Given the description of an element on the screen output the (x, y) to click on. 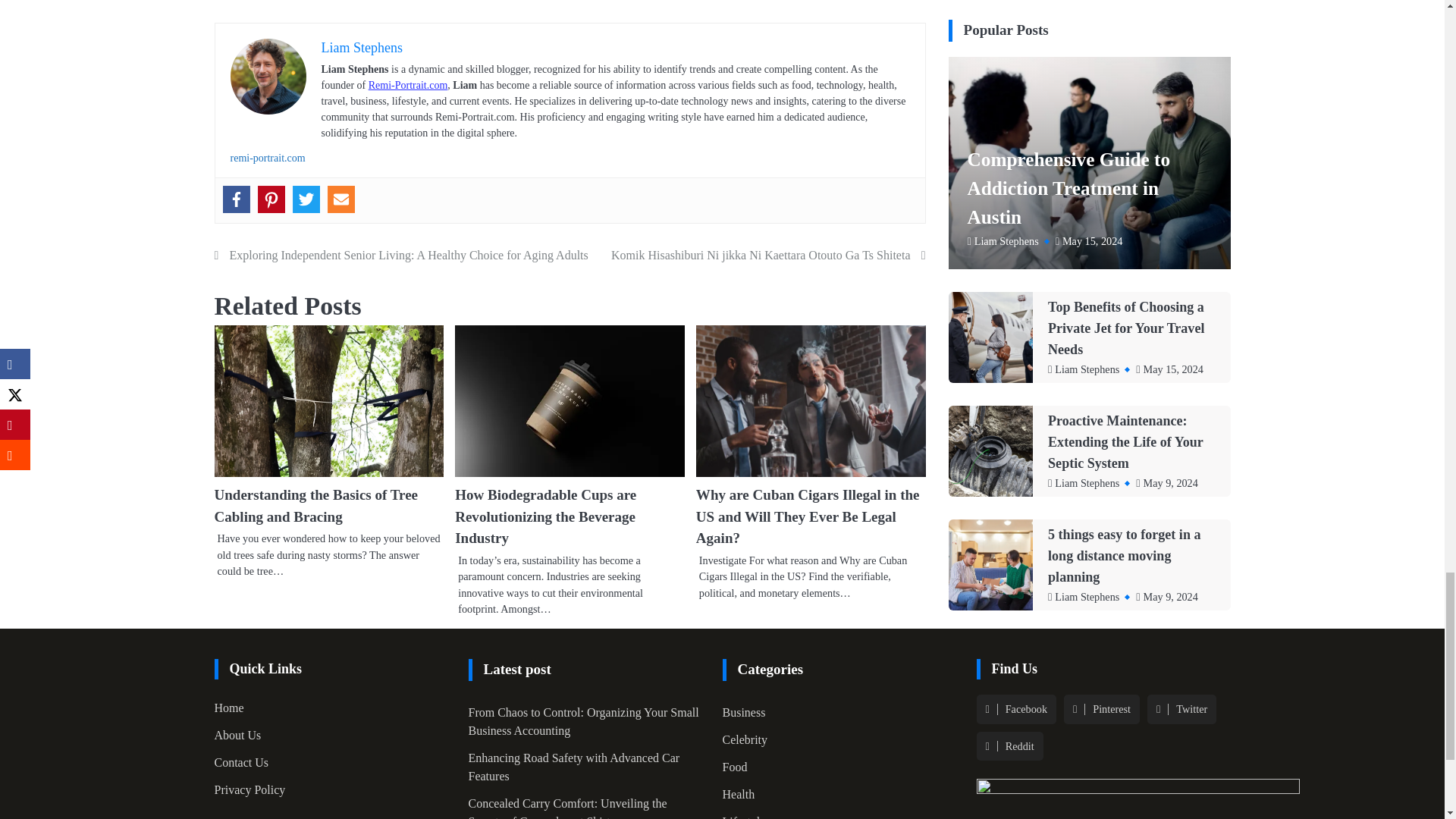
Pinterest (271, 198)
Facebook (236, 198)
Twitter (306, 198)
User email (341, 198)
